Given the description of an element on the screen output the (x, y) to click on. 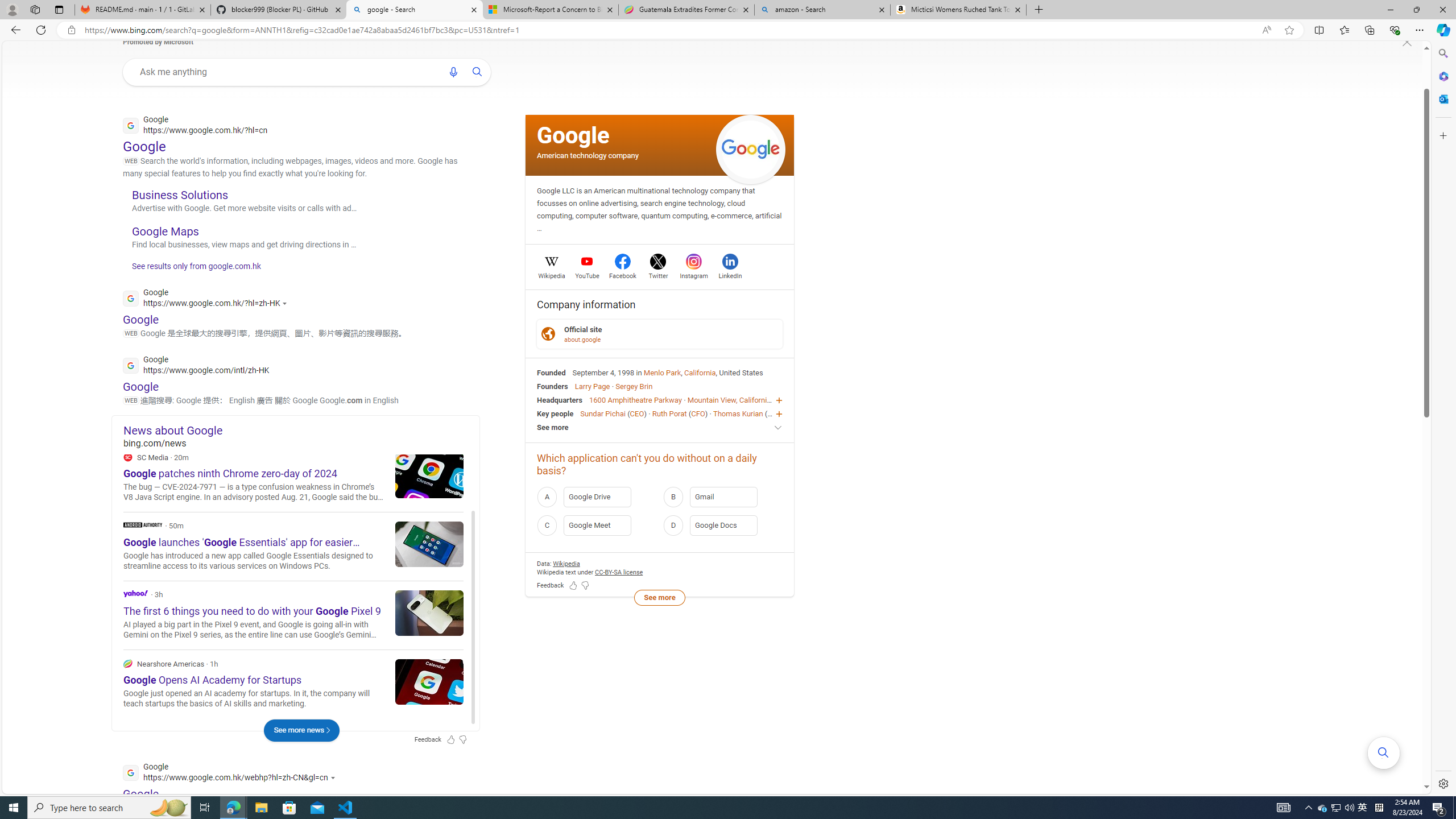
Menlo Park (662, 371)
Data attribution Wikipedia (566, 563)
The first 6 things you need to do with your Google Pixel 9 (428, 612)
See more images of Google (751, 149)
California (700, 371)
See more images of Google (751, 150)
1600 Amphitheatre Parkway (635, 399)
Yahoo (293, 614)
